Given the description of an element on the screen output the (x, y) to click on. 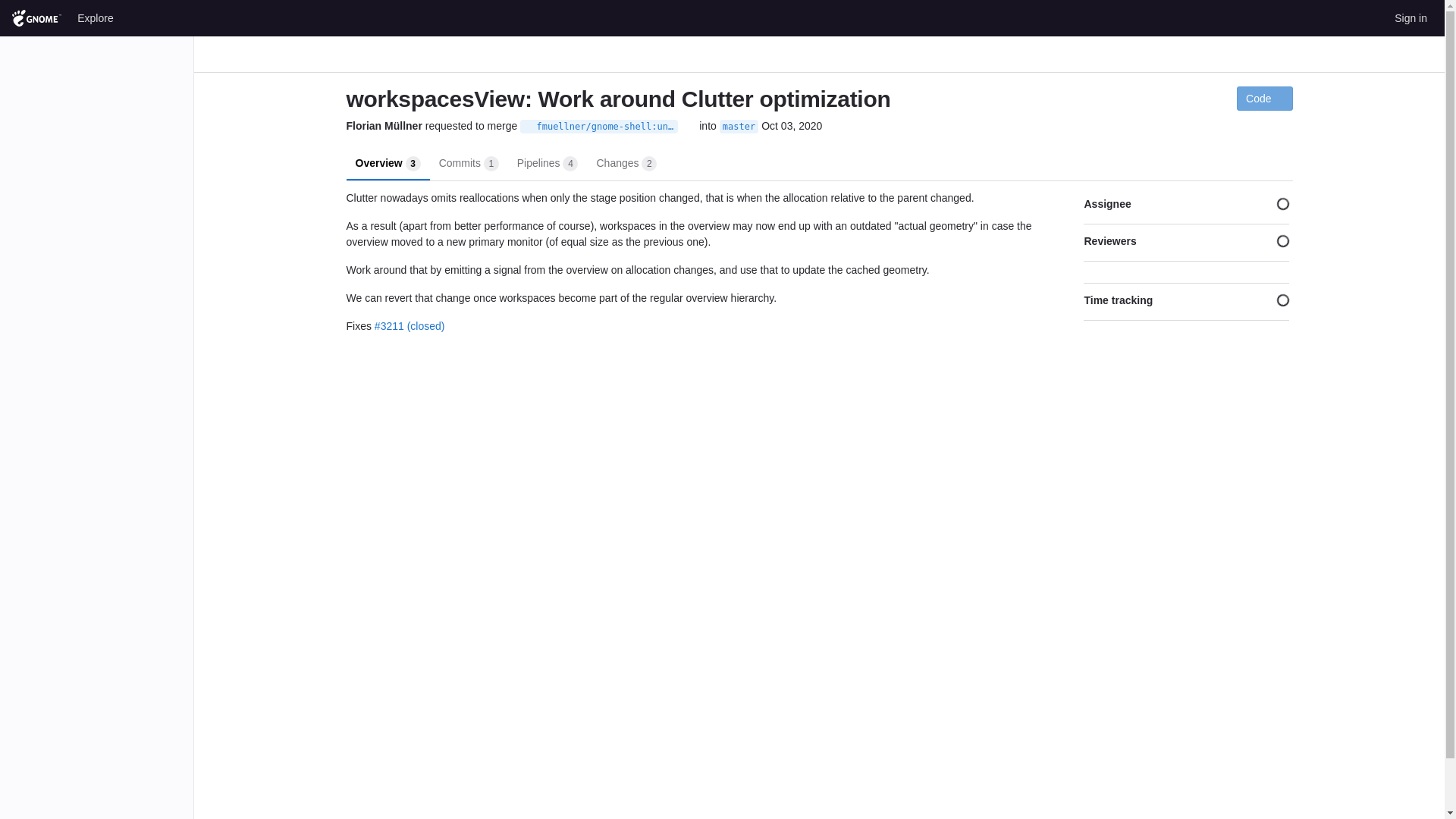
Explore (95, 17)
Sign in (1410, 17)
The source project is a fork (528, 126)
master (625, 162)
Oct 3, 2020 8:37am (387, 162)
Code (738, 126)
Homepage (468, 162)
master (791, 125)
